Given the description of an element on the screen output the (x, y) to click on. 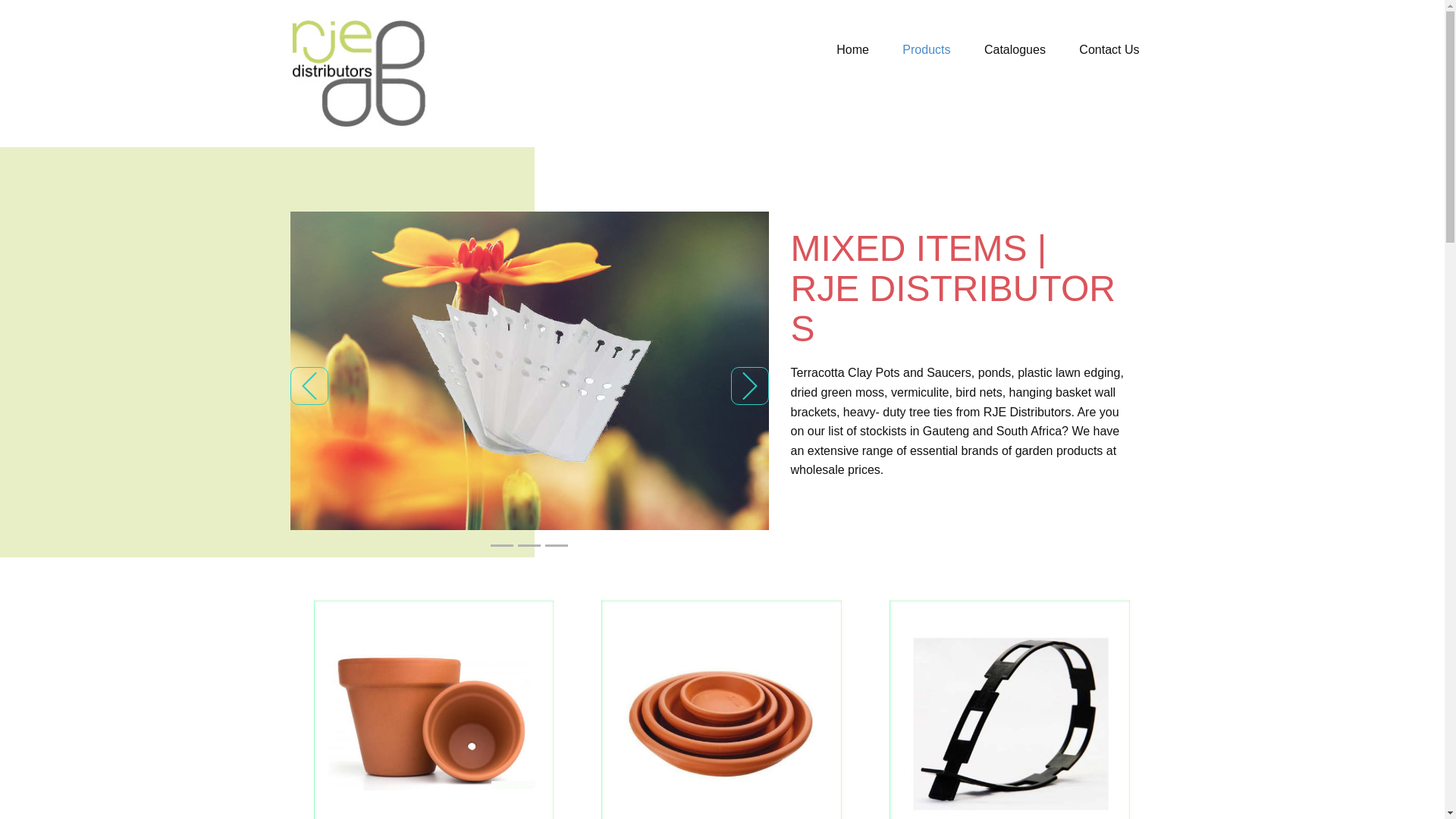
Contact Us (1109, 49)
Catalogues (1015, 49)
Home (852, 49)
Products (925, 49)
